Given the description of an element on the screen output the (x, y) to click on. 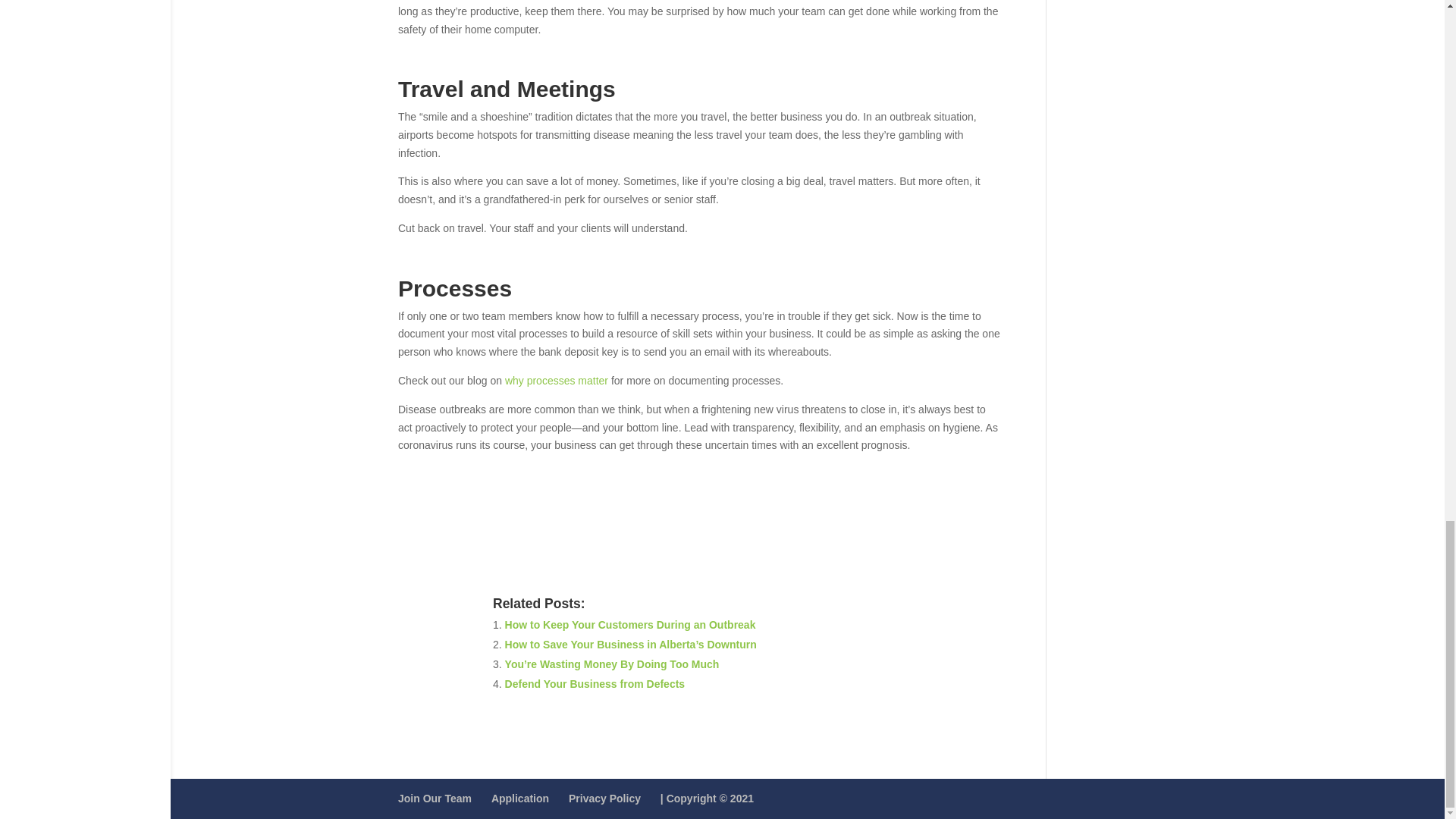
Application (520, 798)
why processes matter (556, 380)
How to Keep Your Customers During an Outbreak (630, 624)
Privacy Policy (604, 798)
Defend Your Business from Defects (595, 684)
Join Our Team (434, 798)
Defend Your Business from Defects (595, 684)
How to Keep Your Customers During an Outbreak (630, 624)
